Given the description of an element on the screen output the (x, y) to click on. 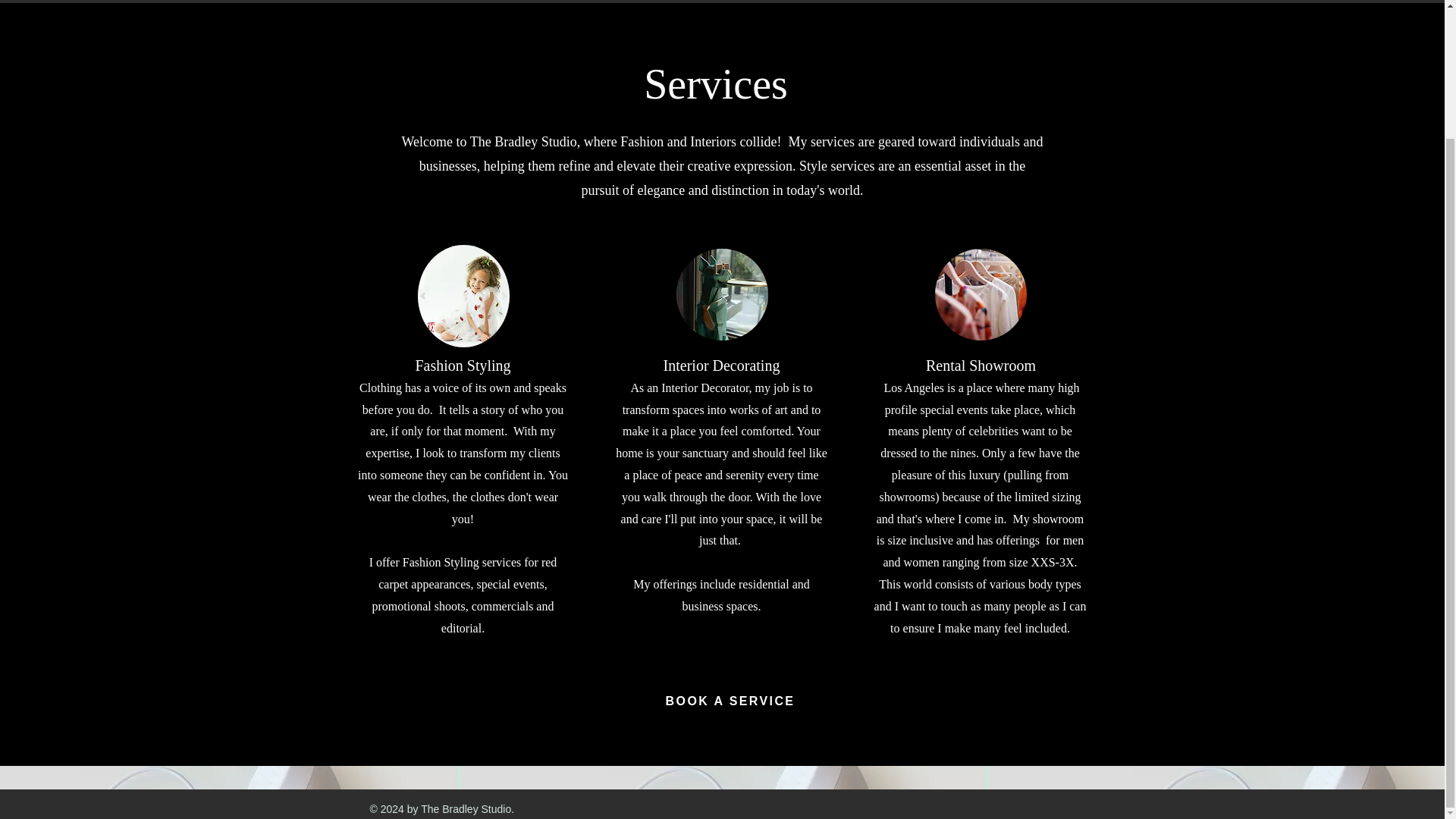
FASHION STYLING PORTFOLIO (352, 1)
INTERIOR DECORATING PORTFOLIO (608, 1)
BOOK A SERVICE (729, 701)
VIDEOS (1182, 1)
SERVICES (804, 1)
TESTIMONIES (1051, 1)
ABOUT (922, 1)
